Given the description of an element on the screen output the (x, y) to click on. 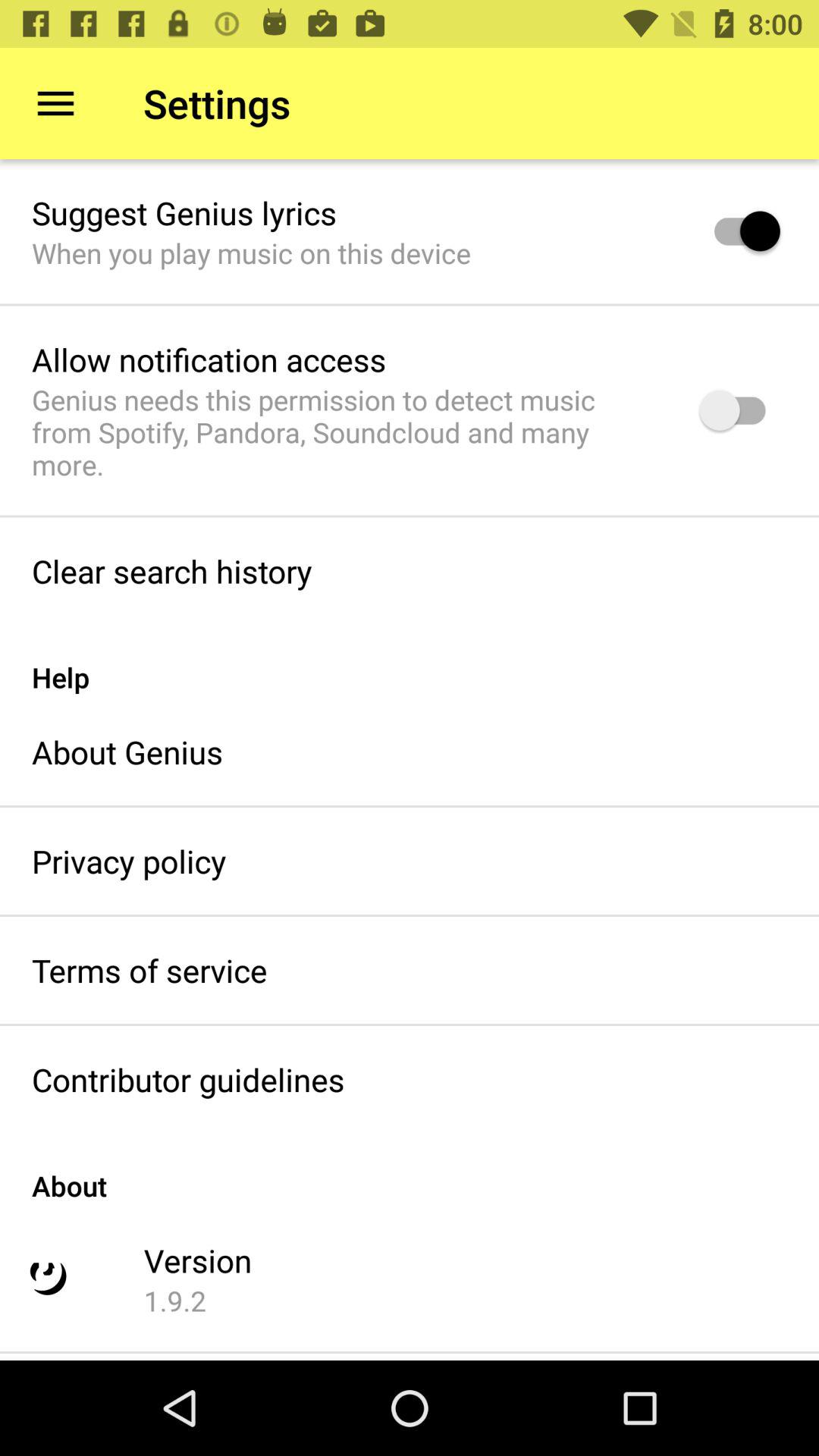
click item below when you play item (208, 359)
